Given the description of an element on the screen output the (x, y) to click on. 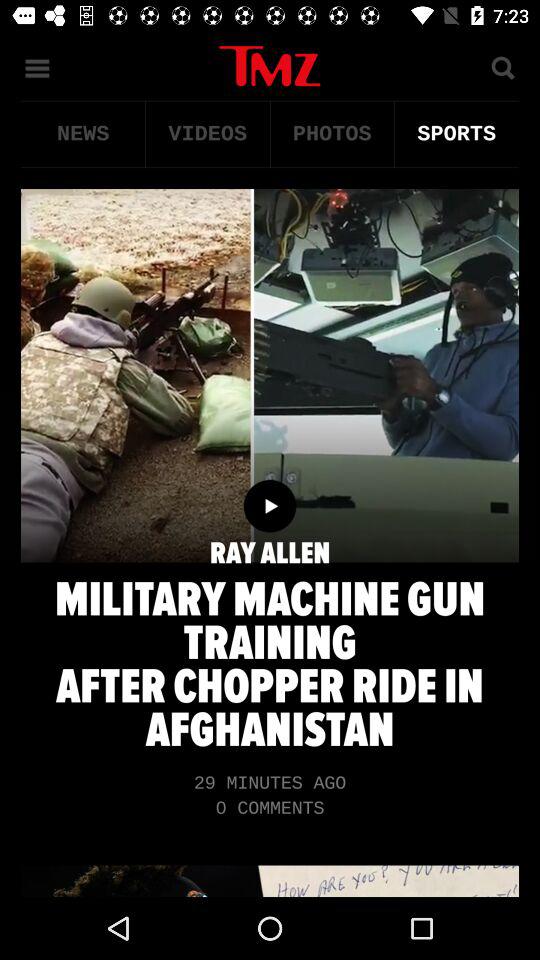
open item to the left of photos icon (207, 133)
